Given the description of an element on the screen output the (x, y) to click on. 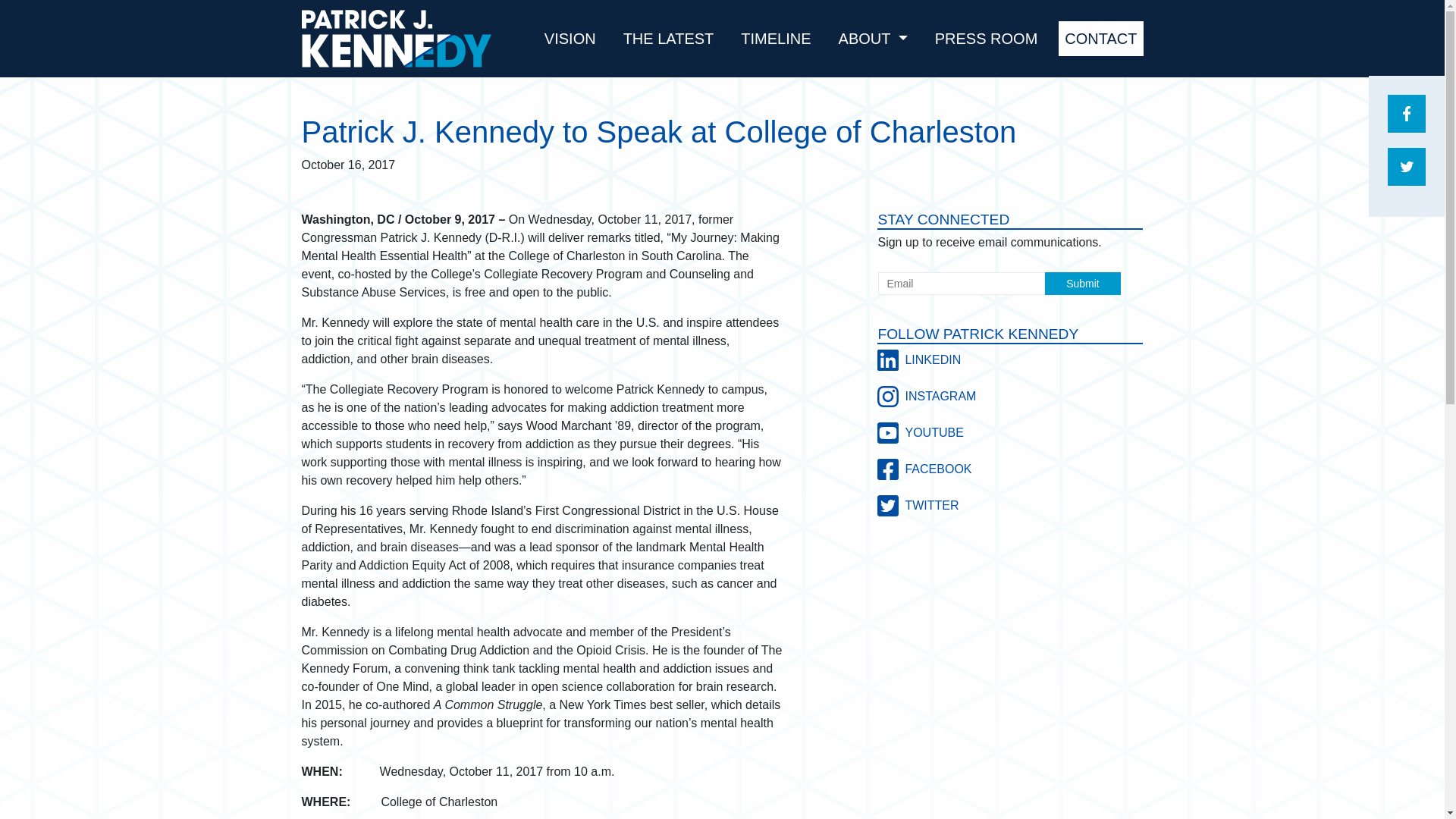
CONTACT (1100, 38)
THE LATEST (668, 38)
FACEBOOK (1009, 469)
ABOUT (873, 38)
Submit (1083, 282)
PRESS ROOM (985, 38)
Share on Twitter (1406, 166)
LINKEDIN (1009, 360)
TIMELINE (775, 38)
Share on Facebook (1406, 113)
TWITTER (1009, 505)
INSTAGRAM (1009, 396)
YOUTUBE (1009, 432)
VISION (570, 38)
